Given the description of an element on the screen output the (x, y) to click on. 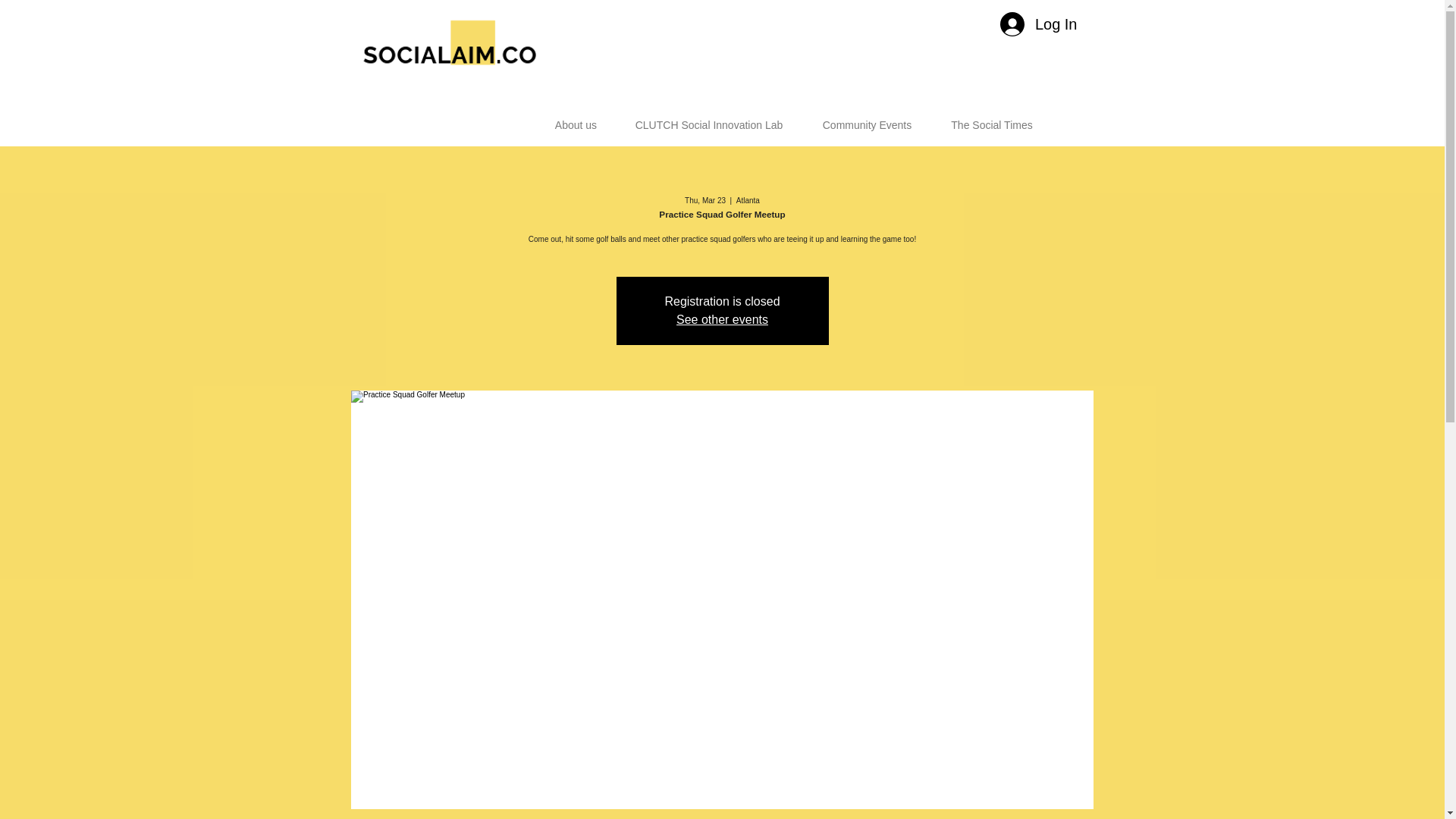
Community Events (866, 118)
Log In (1038, 23)
The Social Times (991, 118)
About us (576, 118)
CLUTCH Social Innovation Lab (709, 118)
See other events (722, 318)
